Given the description of an element on the screen output the (x, y) to click on. 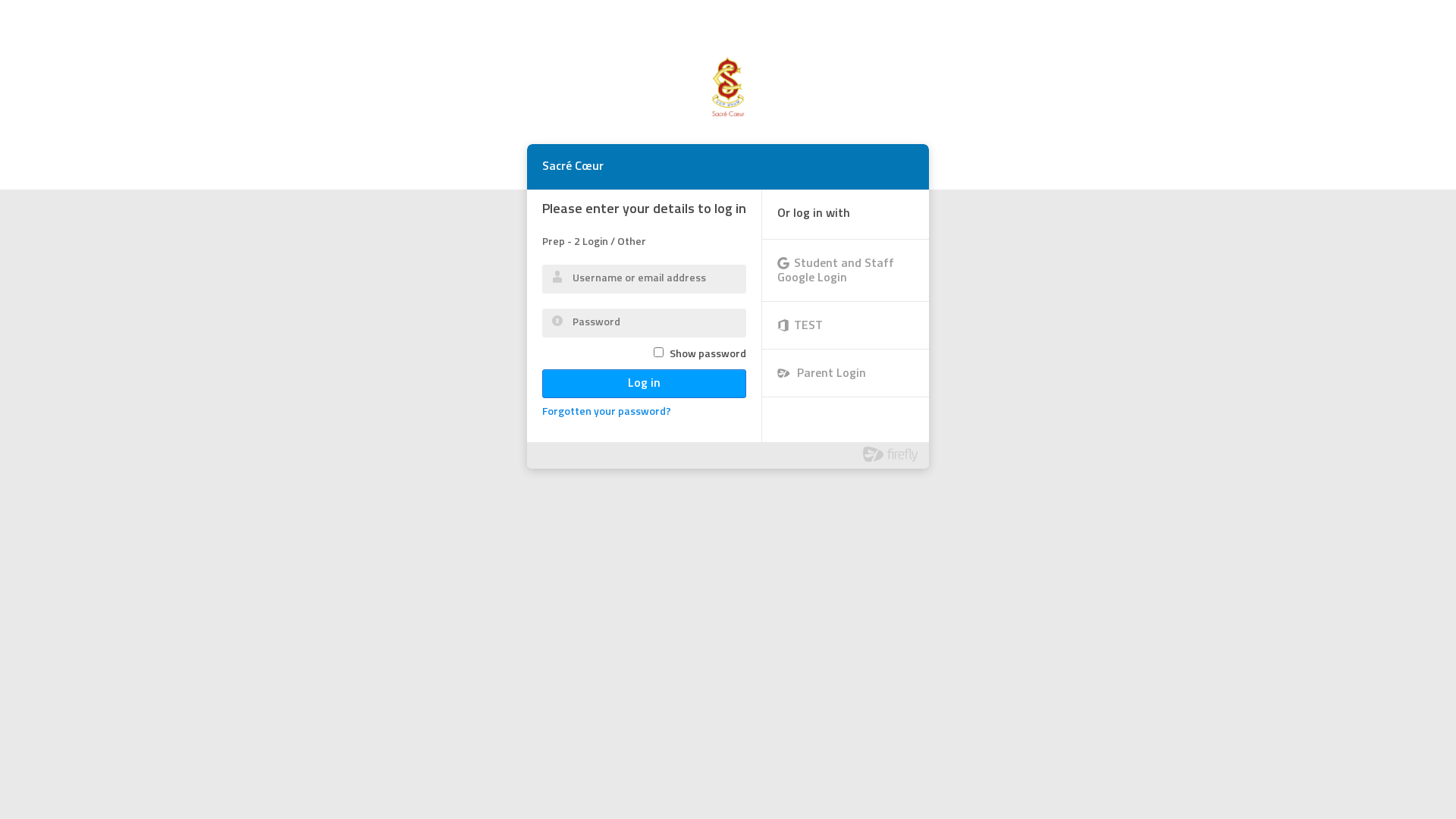
Forgotten your password? Element type: text (606, 412)
Log in Element type: text (644, 383)
Student and Staff Google Login Element type: text (845, 270)
Parent Login Element type: text (845, 372)
TEST Element type: text (845, 324)
